Given the description of an element on the screen output the (x, y) to click on. 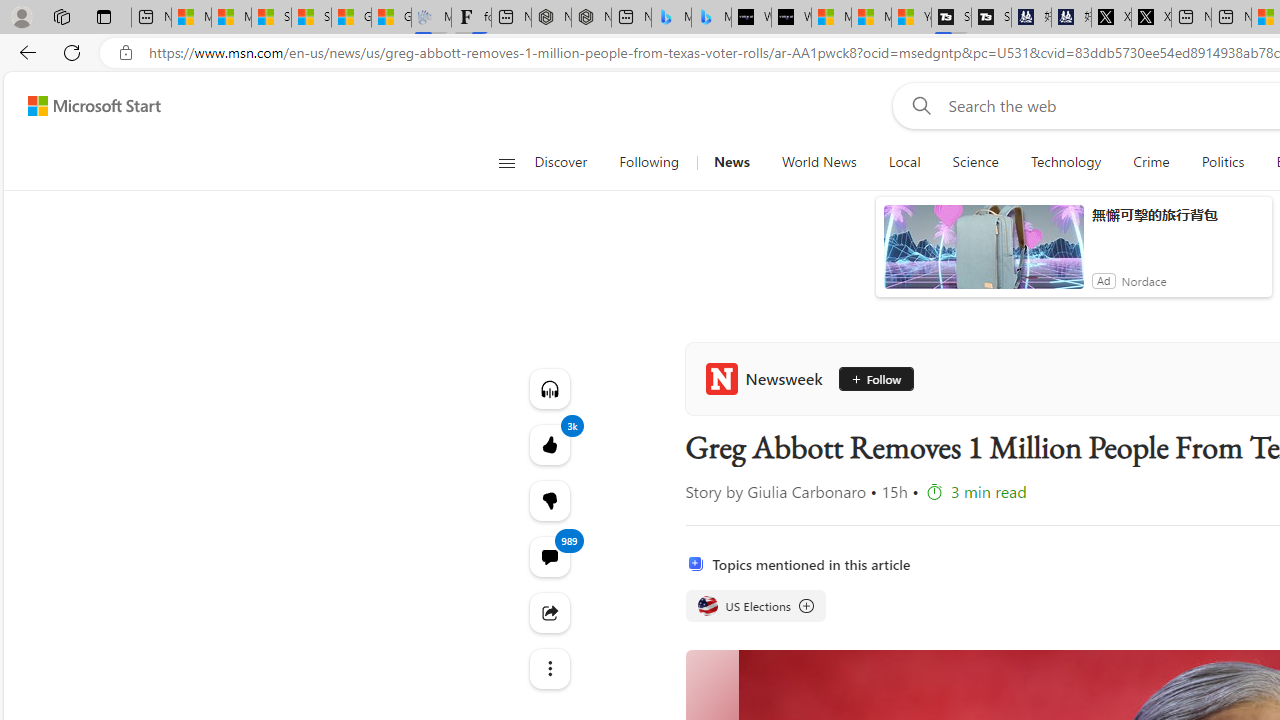
Technology (1066, 162)
Science (975, 162)
More like this3kFewer like thisView comments (548, 500)
Microsoft Bing Travel - Stays in Bangkok, Bangkok, Thailand (671, 17)
View comments 989 Comment (548, 556)
Local (903, 162)
US Elections (754, 605)
